Given the description of an element on the screen output the (x, y) to click on. 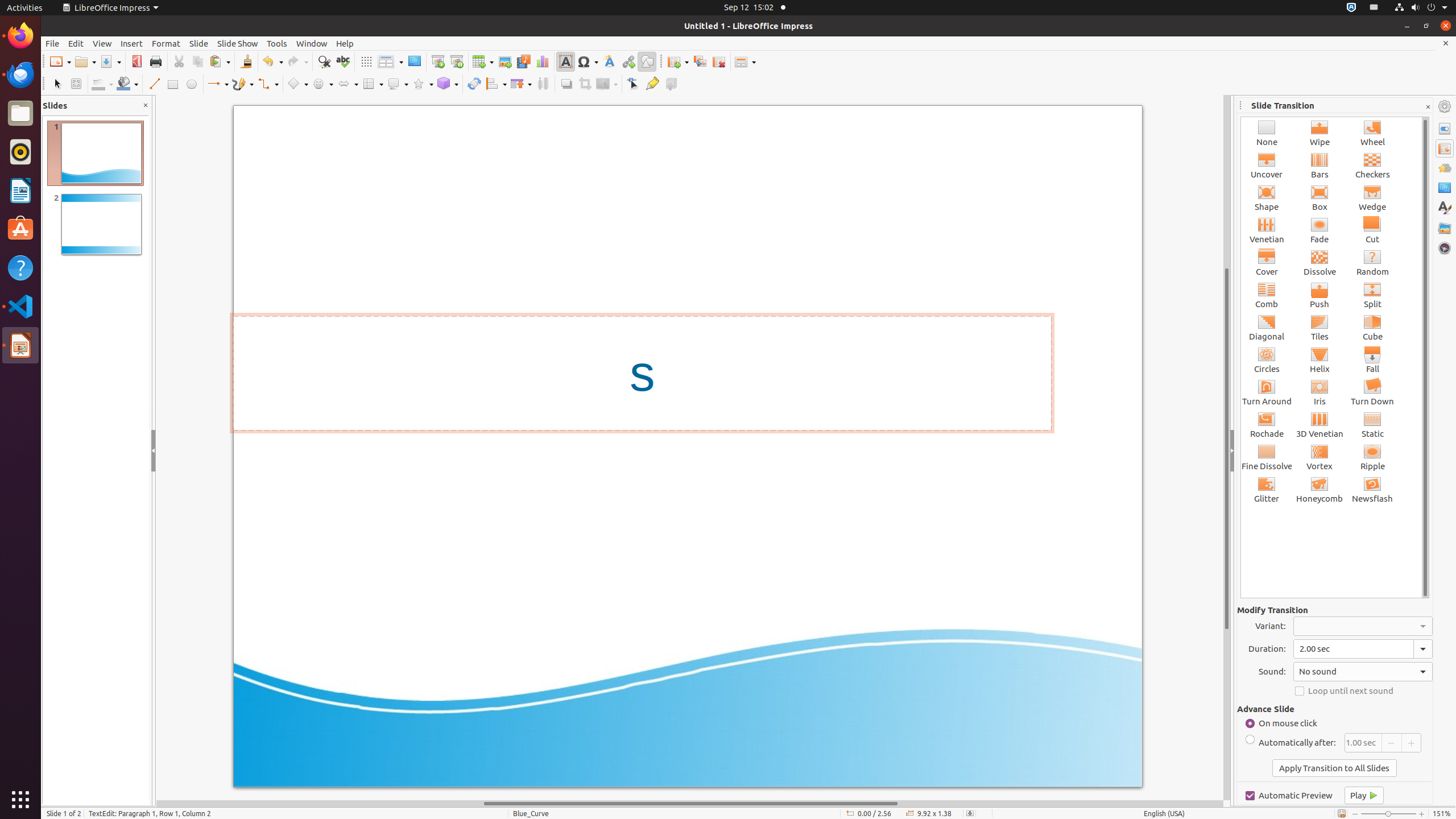
Media Element type: push-button (523, 61)
Rhythmbox Element type: push-button (20, 151)
LibreOffice Impress Element type: menu (109, 7)
Cube Element type: list-item (1372, 326)
Close Sidebar Deck Element type: push-button (1427, 106)
